Given the description of an element on the screen output the (x, y) to click on. 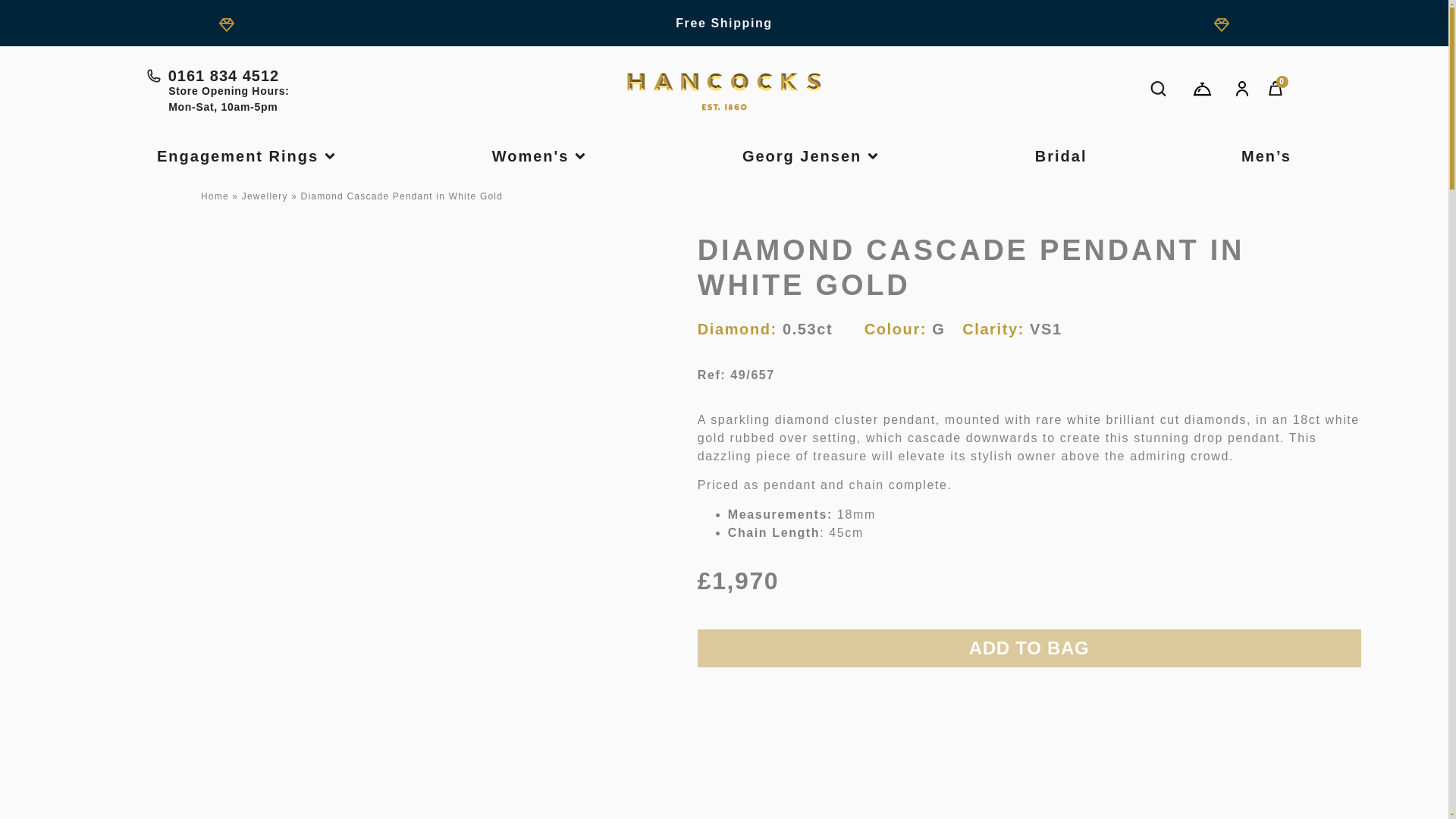
0 (1275, 89)
Engagement Rings (237, 156)
0161 834 4512 (339, 75)
